Given the description of an element on the screen output the (x, y) to click on. 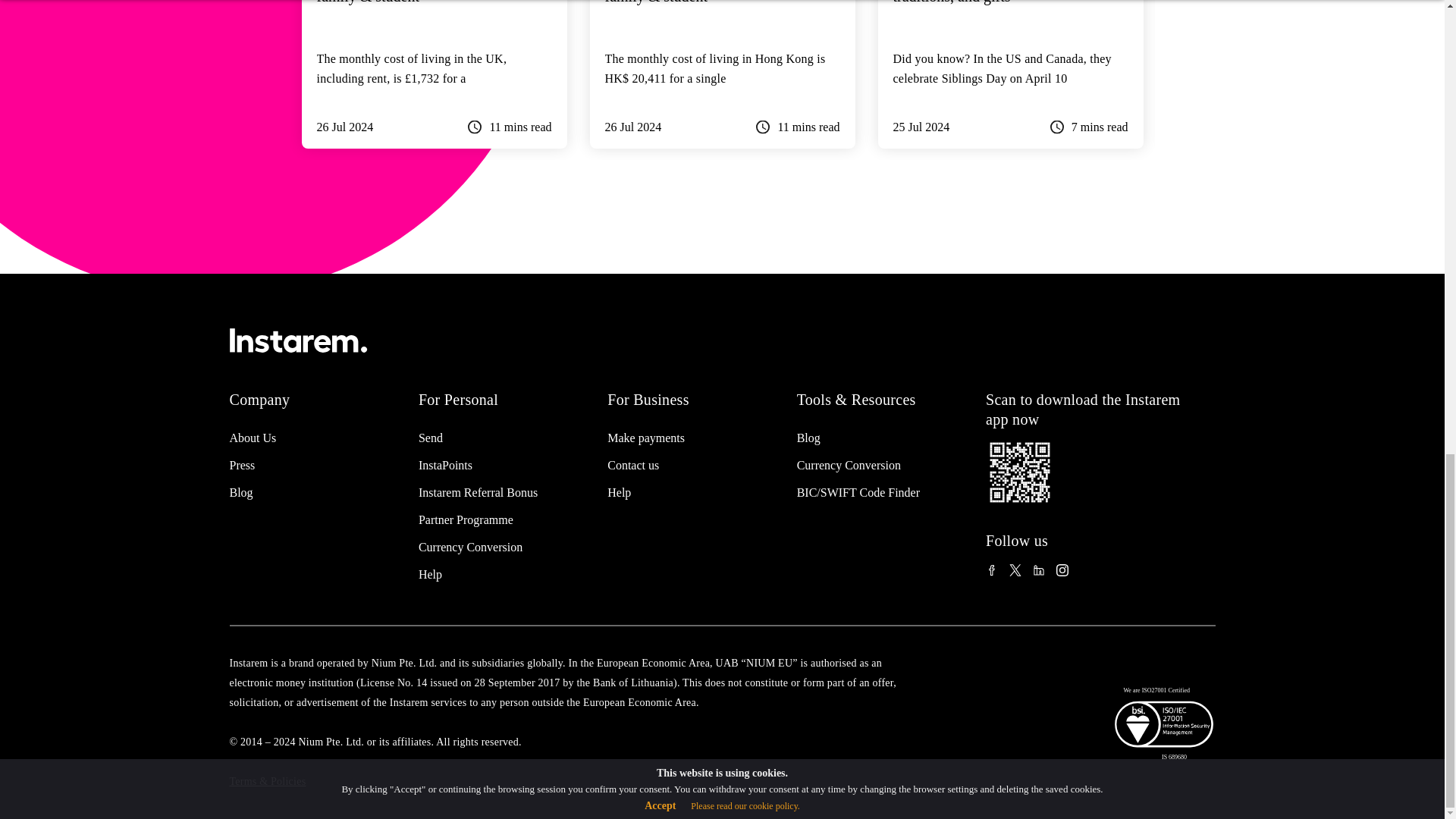
Instagram (1062, 568)
Facebook (991, 568)
Twitter (1015, 568)
LinkedIn (1038, 568)
